Given the description of an element on the screen output the (x, y) to click on. 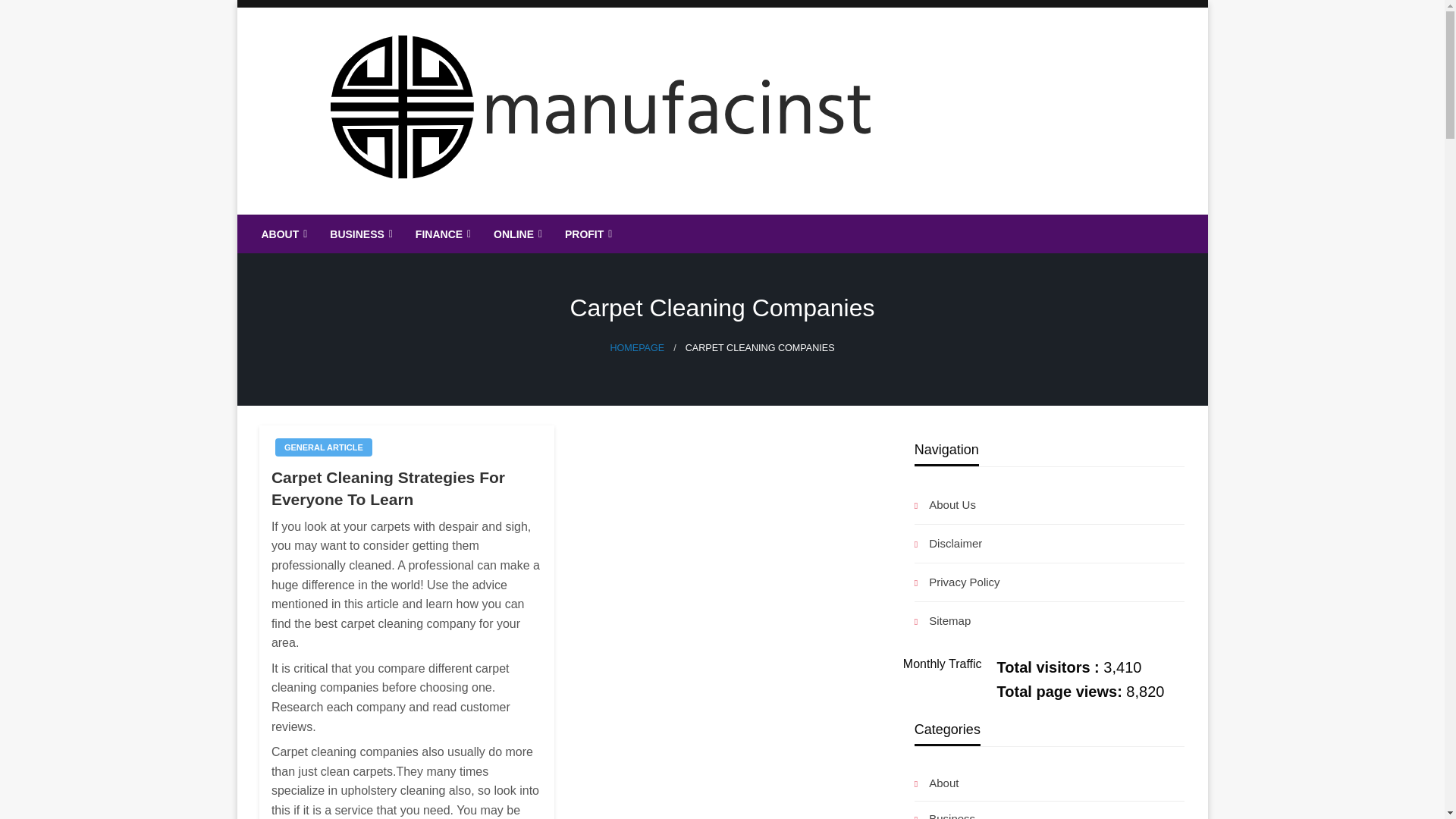
HOMEPAGE (636, 347)
BUSINESS (360, 234)
ONLINE (515, 234)
FINANCE (441, 234)
About Us (1049, 504)
PROFIT (586, 234)
Homepage (636, 347)
Manufacinst (345, 226)
Carpet Cleaning Strategies For Everyone To Learn (405, 488)
